Given the description of an element on the screen output the (x, y) to click on. 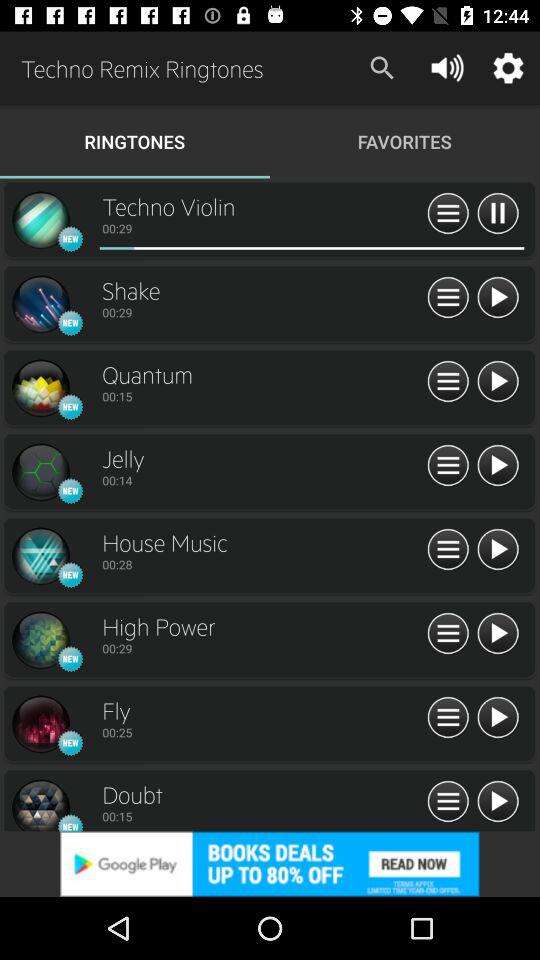
go to advertisement 's website (270, 864)
